Given the description of an element on the screen output the (x, y) to click on. 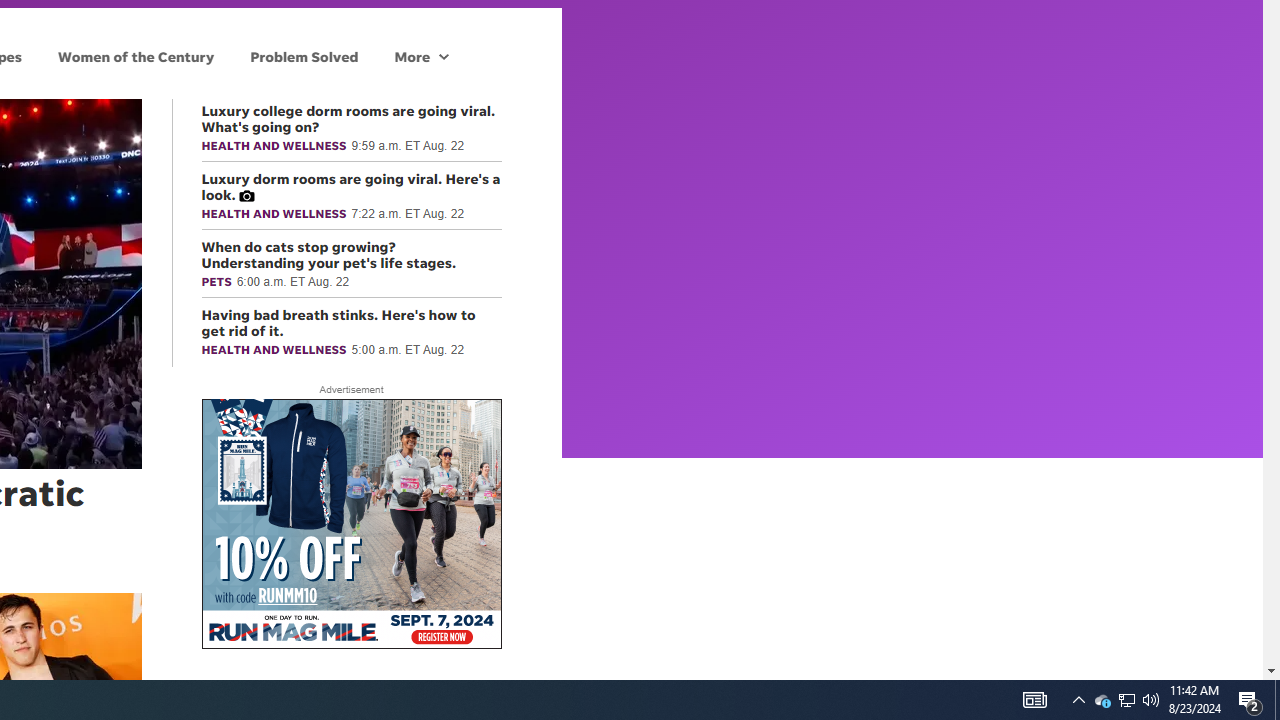
User Promoted Notification Area (1126, 699)
